Given the description of an element on the screen output the (x, y) to click on. 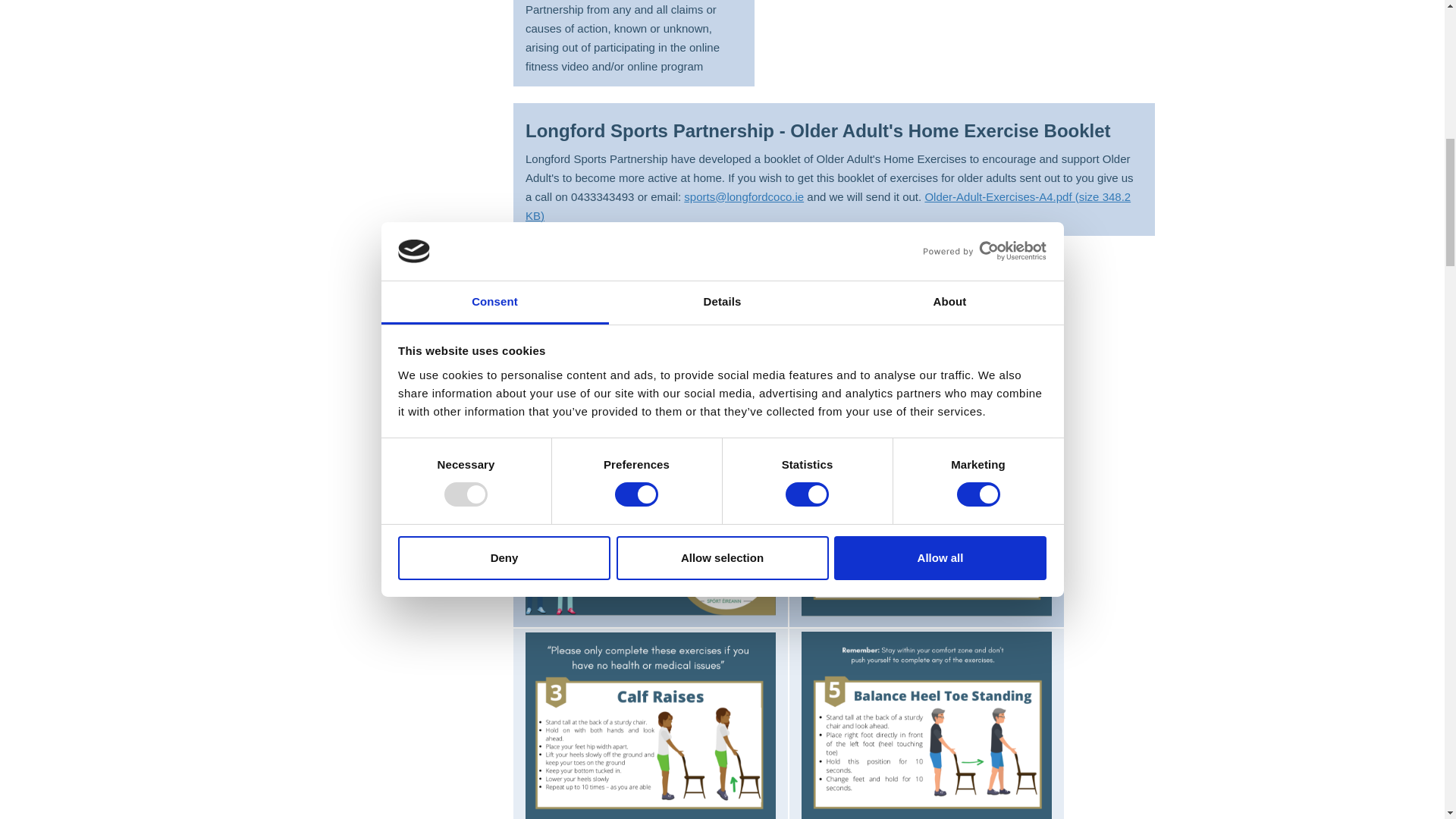
Screenshot-2020-05-07-at-14.02.35 (650, 725)
Screenshot-2020-05-07-at-14.02.09 (926, 725)
